Given the description of an element on the screen output the (x, y) to click on. 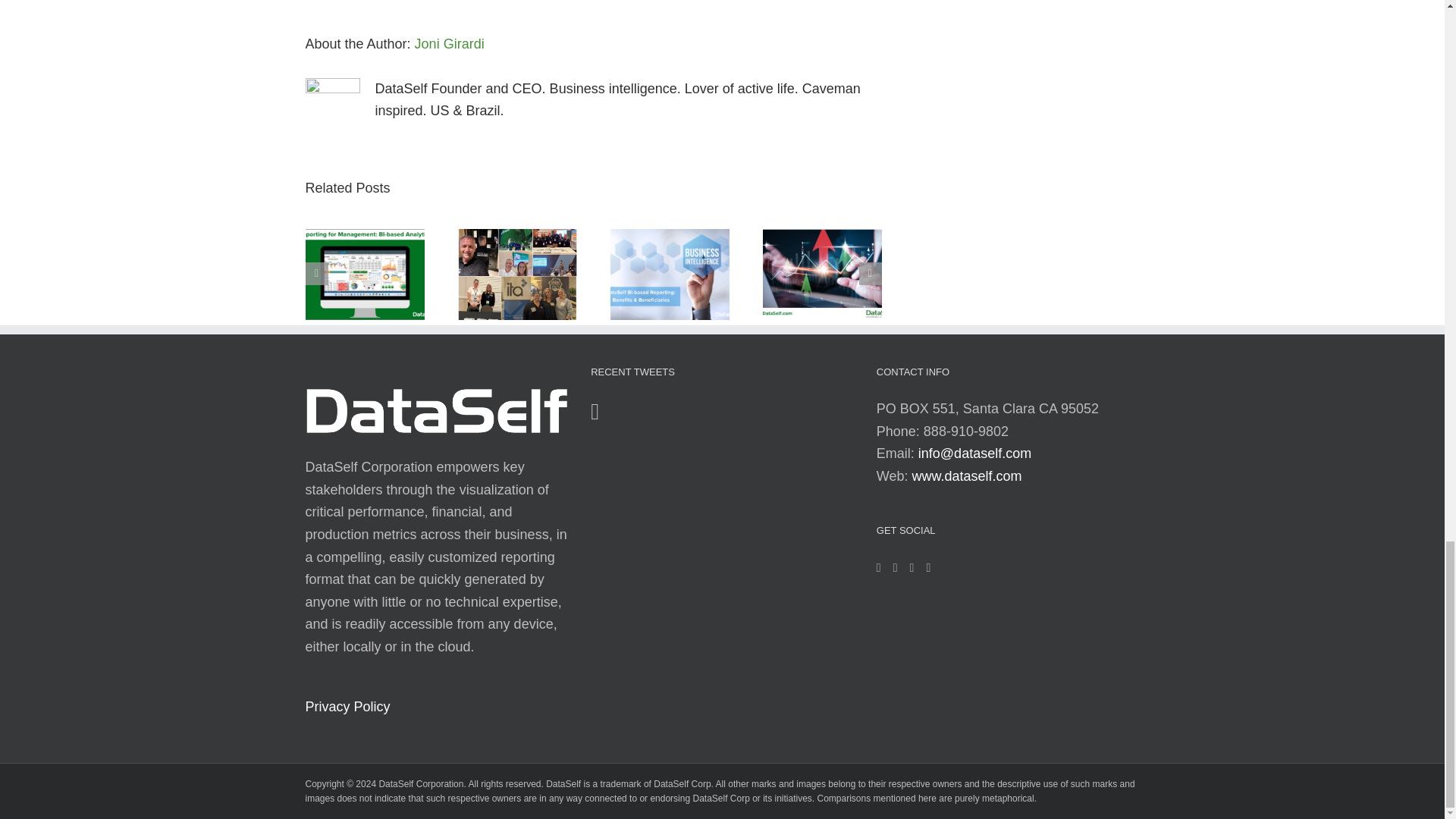
Posts by Joni Girardi (449, 43)
